Given the description of an element on the screen output the (x, y) to click on. 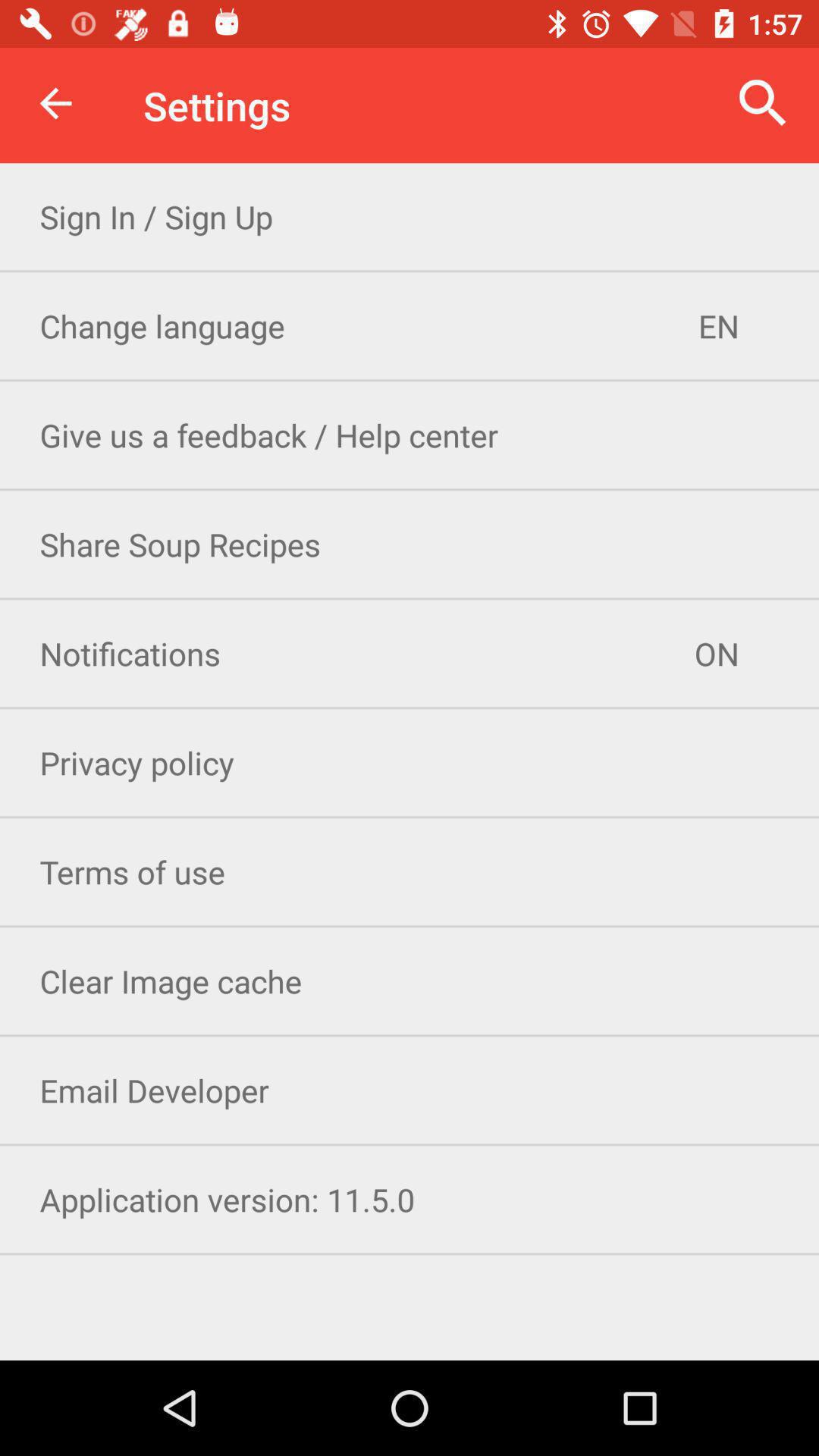
click the sign in sign item (409, 216)
